Given the description of an element on the screen output the (x, y) to click on. 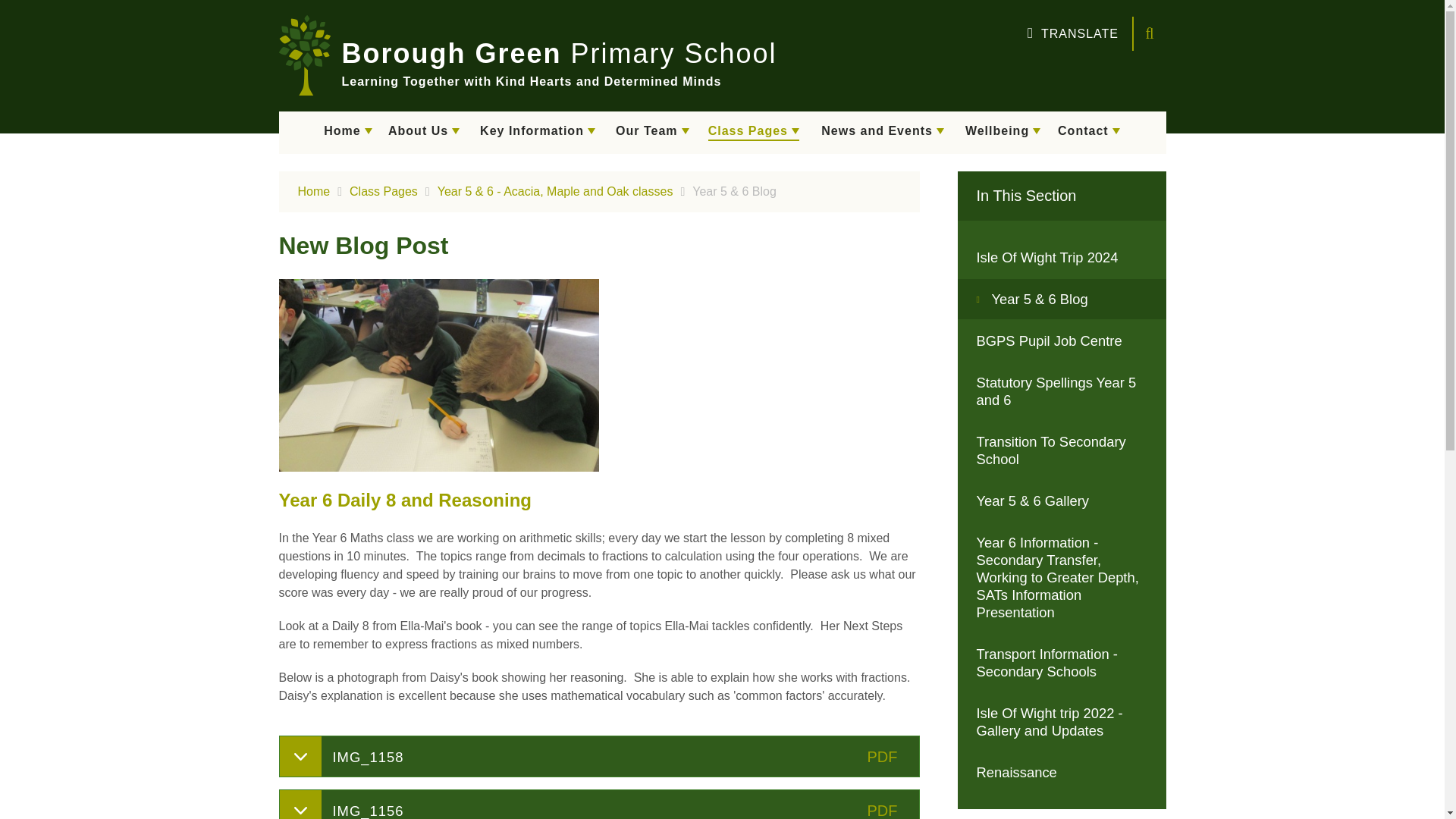
Key Information (537, 131)
About Us (422, 131)
Home (348, 131)
